Given the description of an element on the screen output the (x, y) to click on. 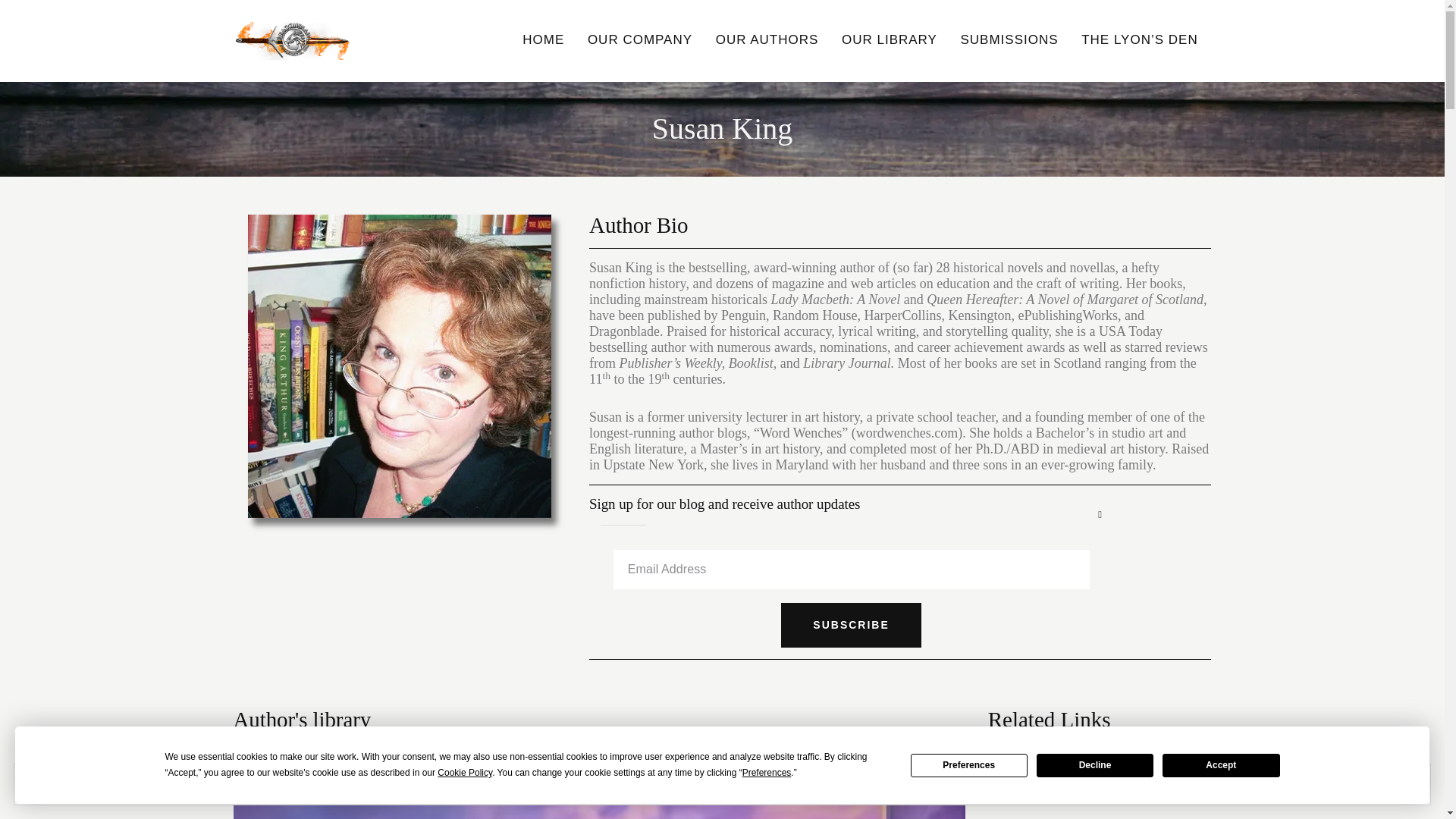
OUR AUTHORS (766, 40)
Decline (1094, 765)
OUR COMPANY (640, 40)
HOME (543, 40)
Accept (1220, 765)
OUR LIBRARY (889, 40)
Close and accept (1366, 784)
Preferences (969, 765)
SUBMISSIONS (1009, 40)
